Given the description of an element on the screen output the (x, y) to click on. 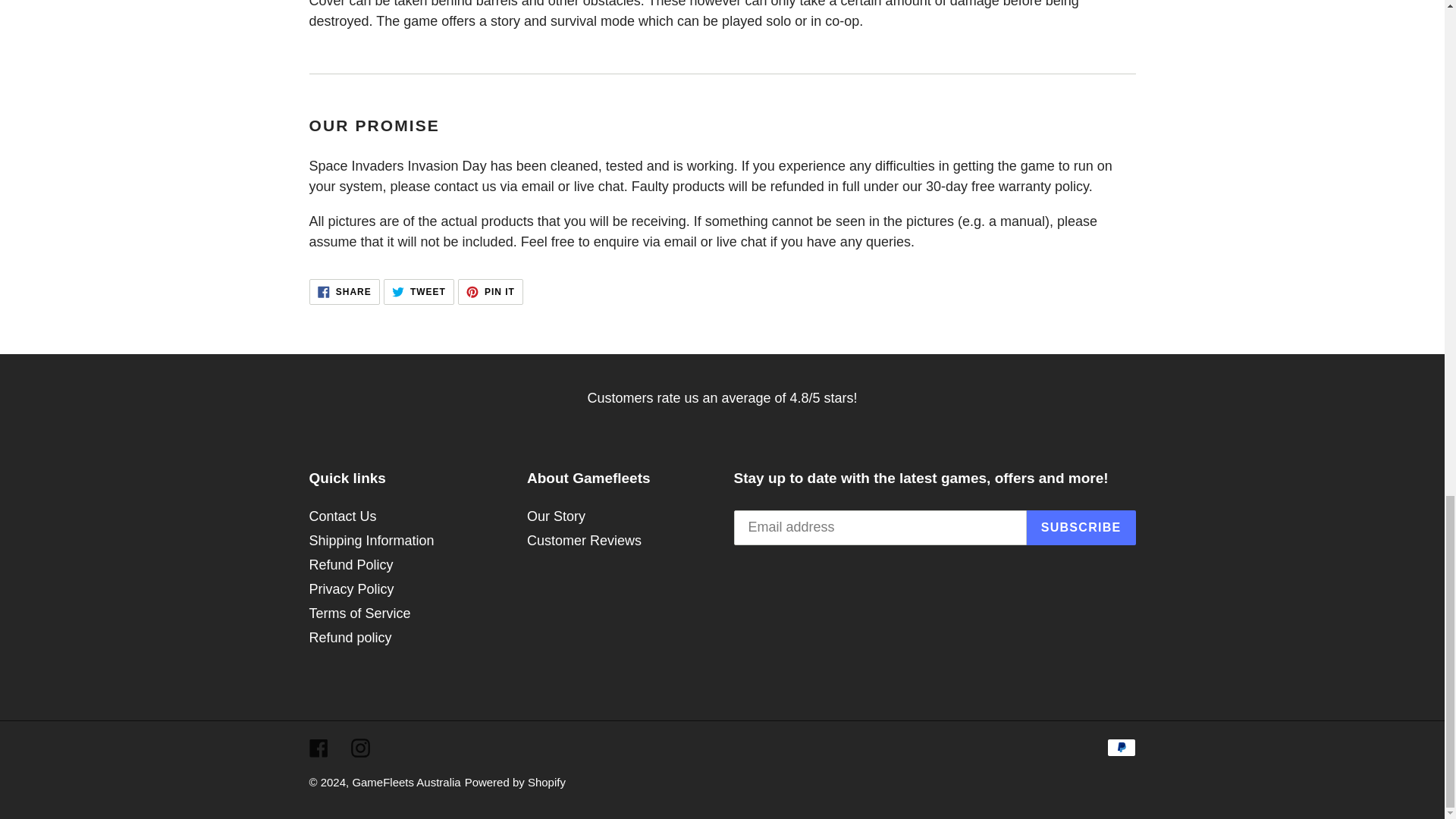
PayPal (1120, 747)
